Given the description of an element on the screen output the (x, y) to click on. 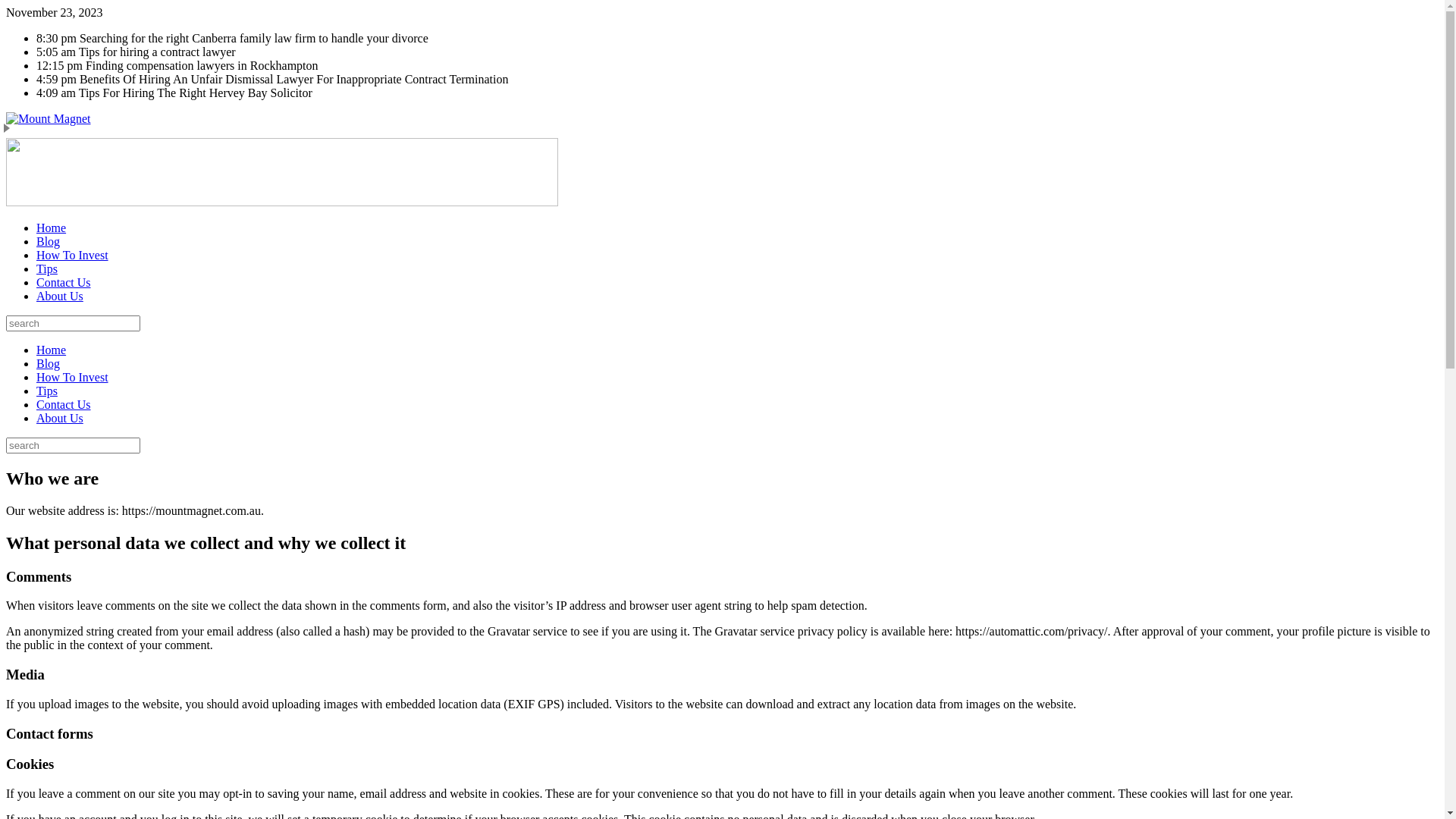
Contact Us Element type: text (63, 404)
About Us Element type: text (59, 295)
Home Element type: text (50, 227)
How To Invest Element type: text (72, 376)
Contact Us Element type: text (63, 282)
Home Element type: text (50, 349)
Tips Element type: text (46, 268)
How To Invest Element type: text (72, 254)
About Us Element type: text (59, 417)
Tips Element type: text (46, 390)
Blog Element type: text (47, 241)
Blog Element type: text (47, 363)
